Given the description of an element on the screen output the (x, y) to click on. 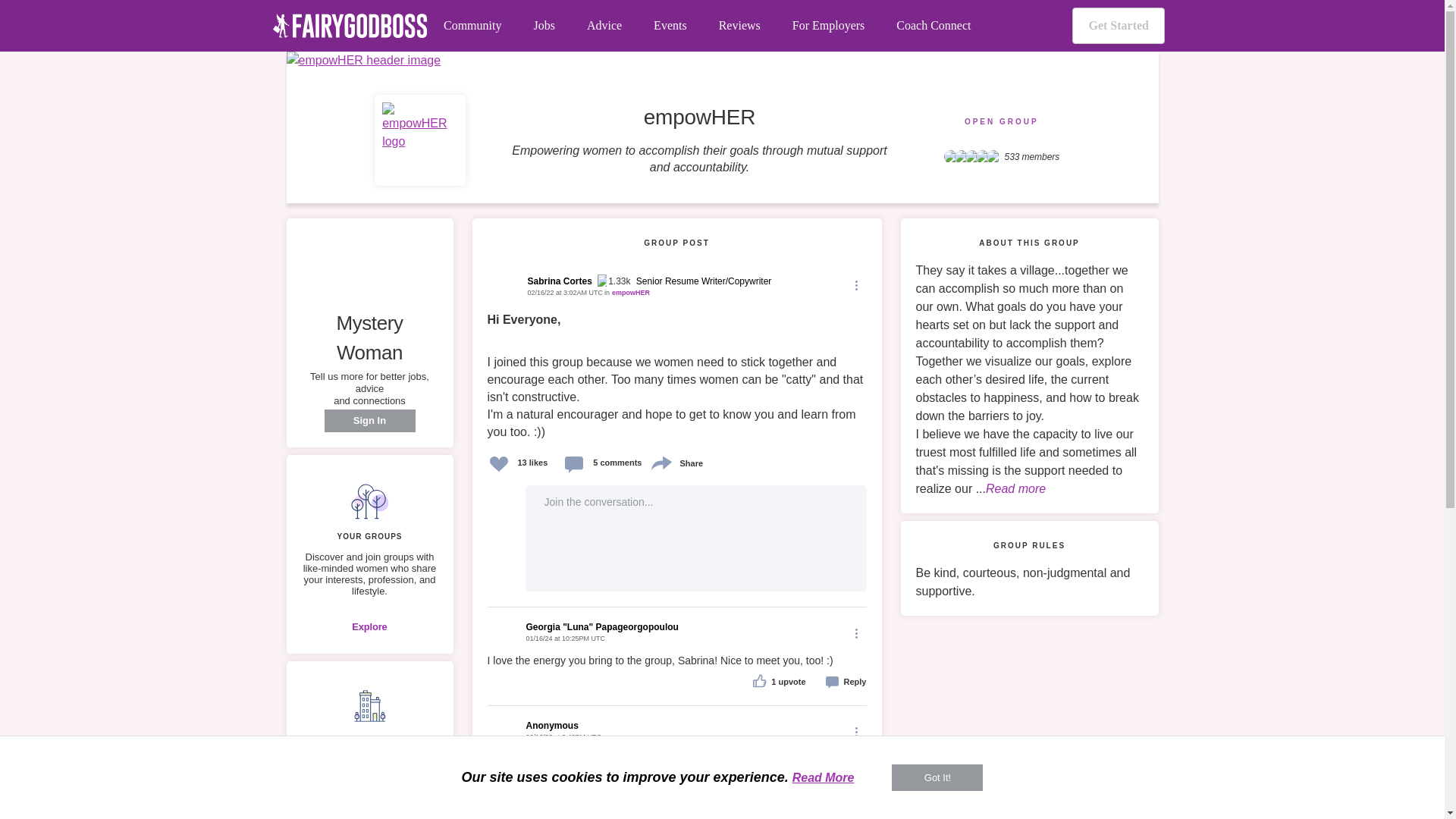
Community (472, 25)
Community (472, 25)
Jobs (543, 25)
Sign In (369, 420)
Got It! (936, 777)
For Employers (828, 25)
Advice (603, 25)
Reviews (739, 25)
Advice (603, 25)
For Employers (828, 25)
